Given the description of an element on the screen output the (x, y) to click on. 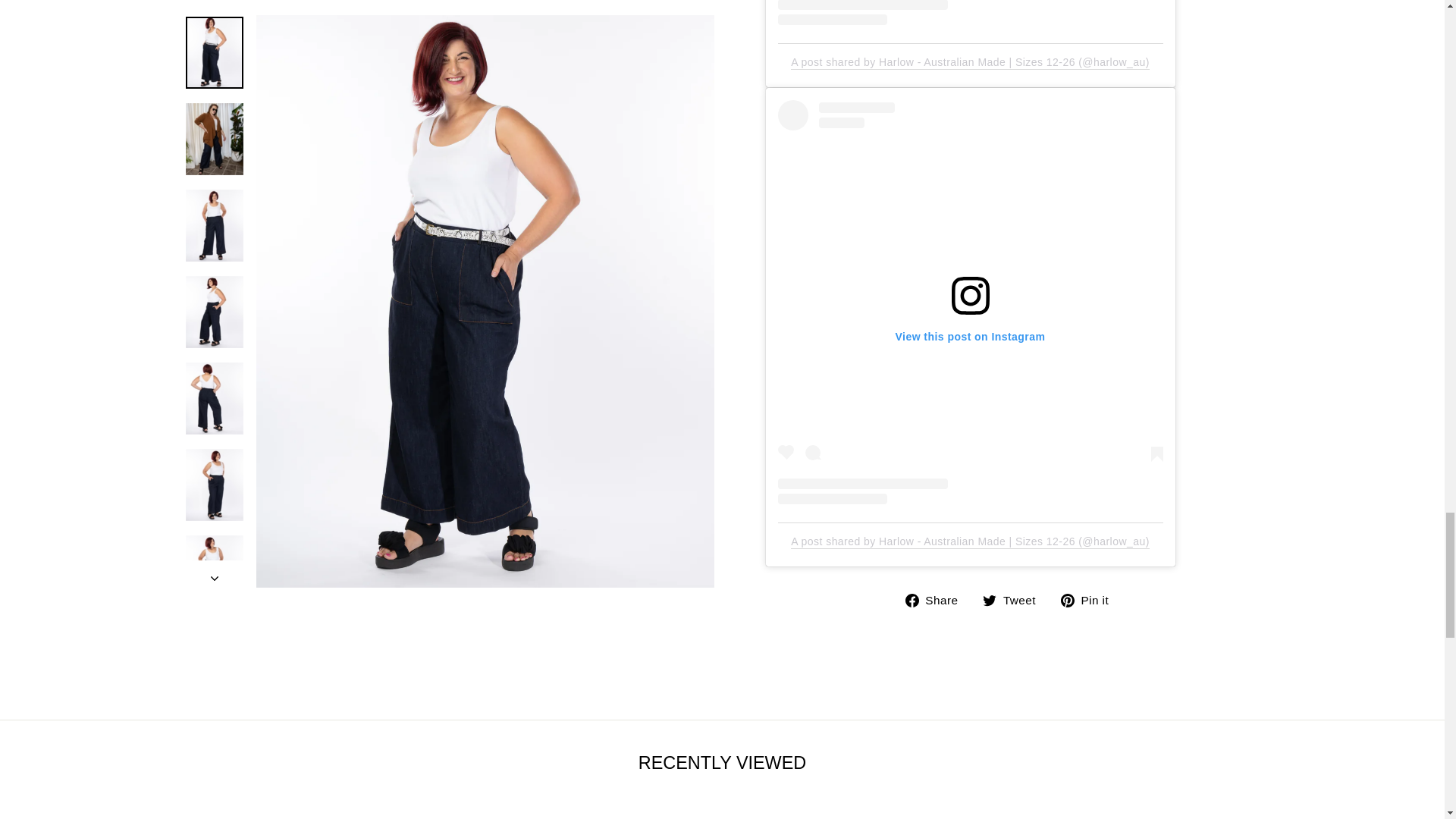
Share on Facebook (937, 599)
Tweet on Twitter (1014, 599)
Pin on Pinterest (1090, 599)
